Given the description of an element on the screen output the (x, y) to click on. 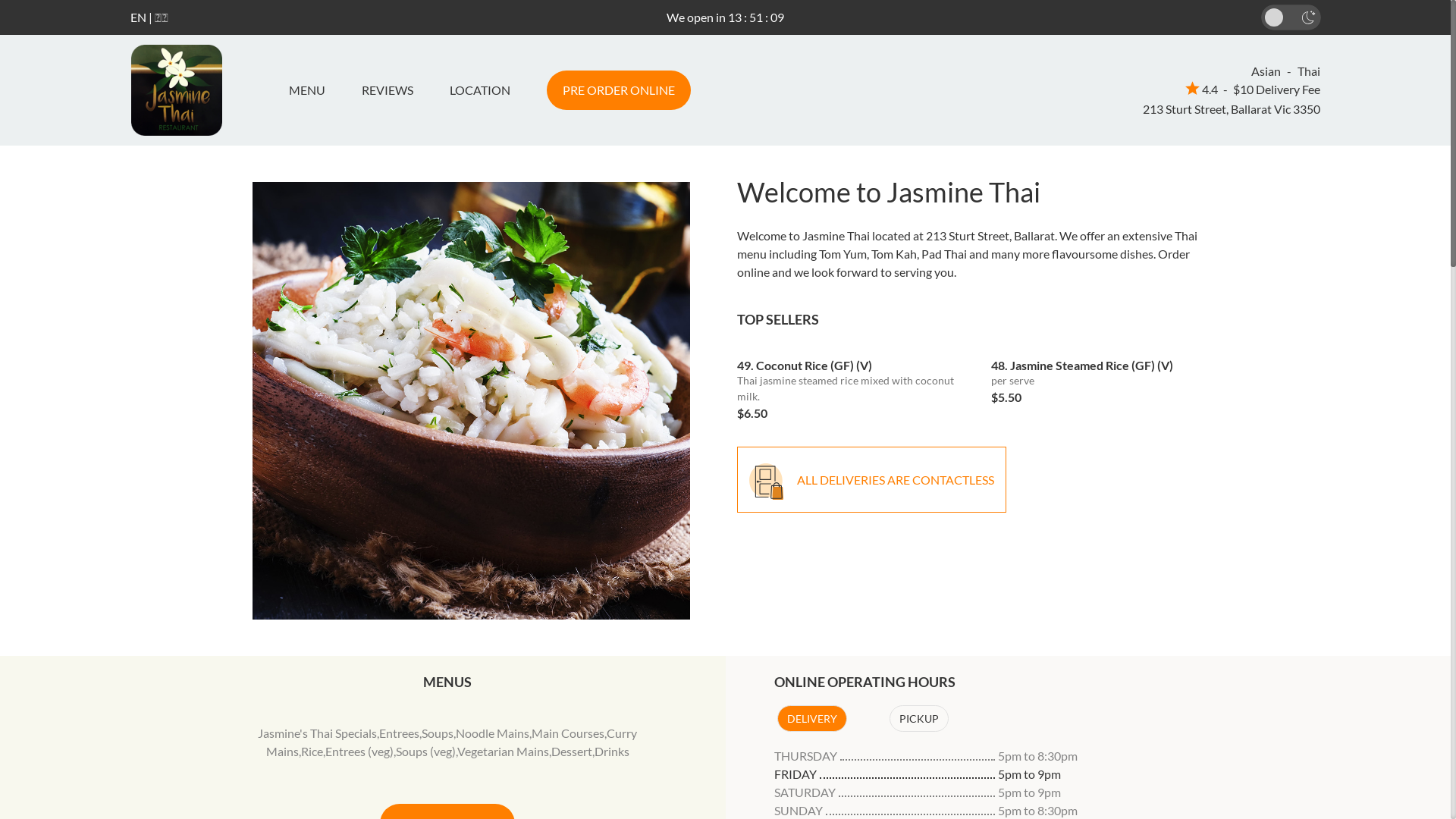
48. Jasmine Steamed Rice (GF) (V)
per serve
$5.50 Element type: text (1107, 376)
Soups (veg) Element type: text (425, 750)
Drinks Element type: text (611, 750)
DELIVERY Element type: text (811, 718)
Dessert Element type: text (571, 750)
Curry Mains Element type: text (451, 741)
Rice Element type: text (312, 750)
REVIEWS Element type: text (386, 90)
MENU Element type: text (312, 90)
4.4 Element type: text (1200, 88)
EN Element type: text (138, 16)
Entrees Element type: text (399, 732)
Soups Element type: text (437, 732)
Vegetarian Mains Element type: text (503, 750)
Entrees (veg) Element type: text (359, 750)
Noodle Mains Element type: text (492, 732)
PICKUP Element type: text (917, 718)
Jasmine's Thai Specials Element type: text (316, 732)
Main Courses Element type: text (567, 732)
LOCATION Element type: text (478, 90)
PRE ORDER ONLINE Element type: text (618, 89)
